Given the description of an element on the screen output the (x, y) to click on. 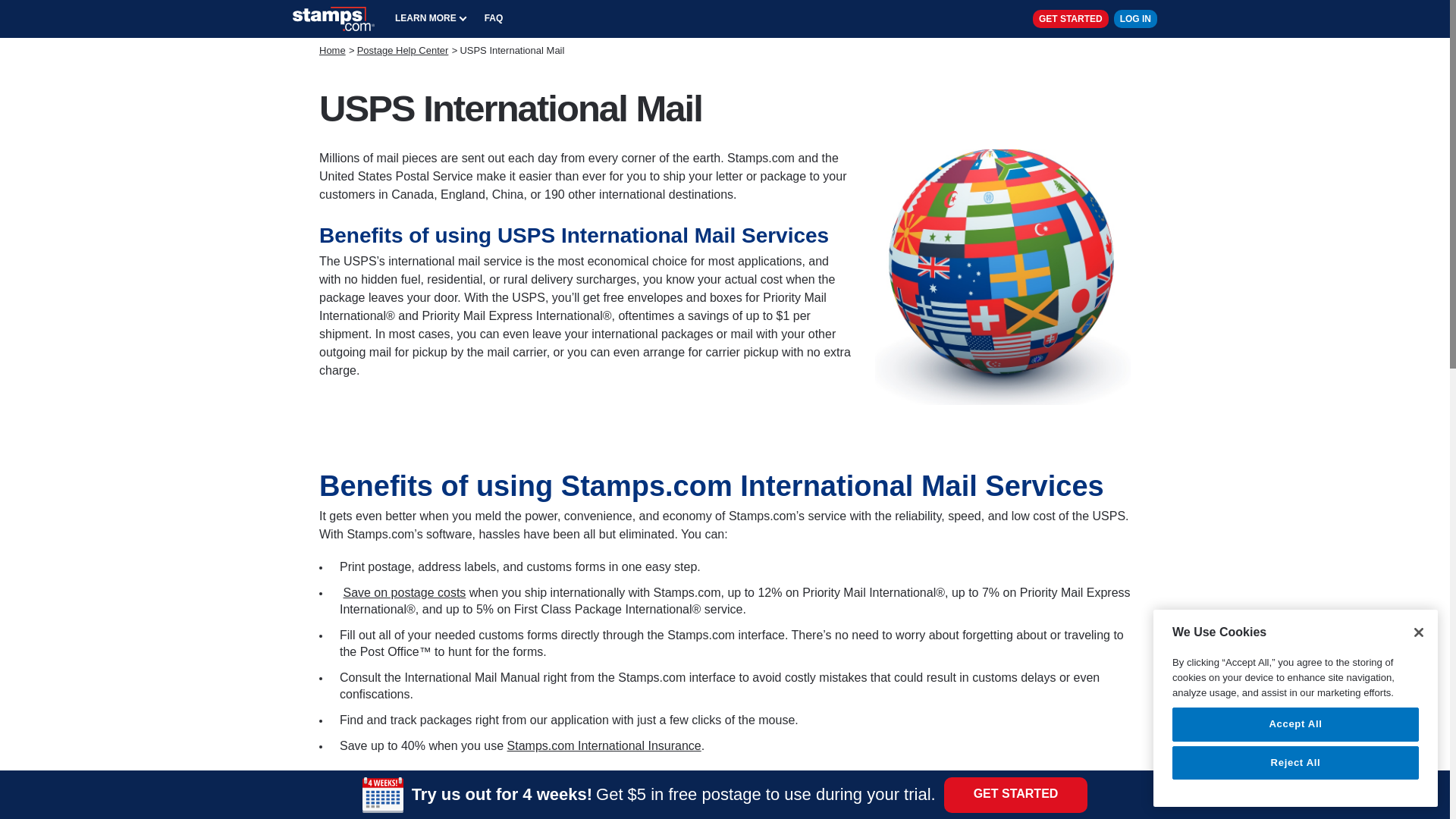
FAQ (494, 18)
LOG IN (1135, 18)
Postage Help Center (402, 50)
Home (332, 50)
GET STARTED (1070, 18)
Save on postage costs (403, 592)
GET STARTED (1015, 794)
Stamps.com International Insurance (603, 745)
Learn More about Stamps products (430, 18)
FAQ (494, 18)
LEARN MORE (430, 18)
